Given the description of an element on the screen output the (x, y) to click on. 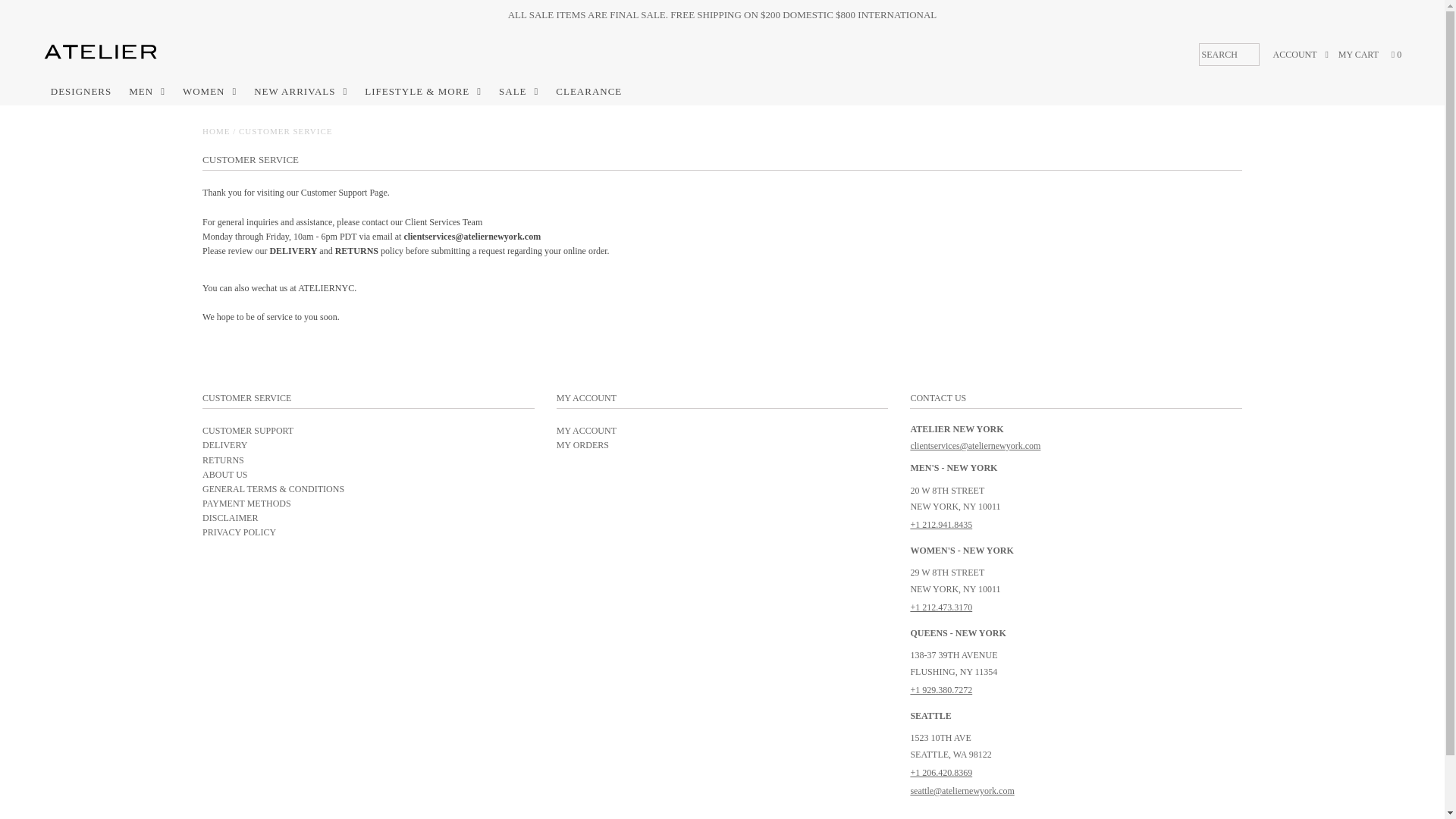
MY CART   0 (1369, 54)
ACCOUNT (1299, 54)
Home (216, 130)
NEW ARRIVALS (300, 91)
DESIGNERS (81, 91)
MEN (146, 91)
WOMEN (209, 91)
